Given the description of an element on the screen output the (x, y) to click on. 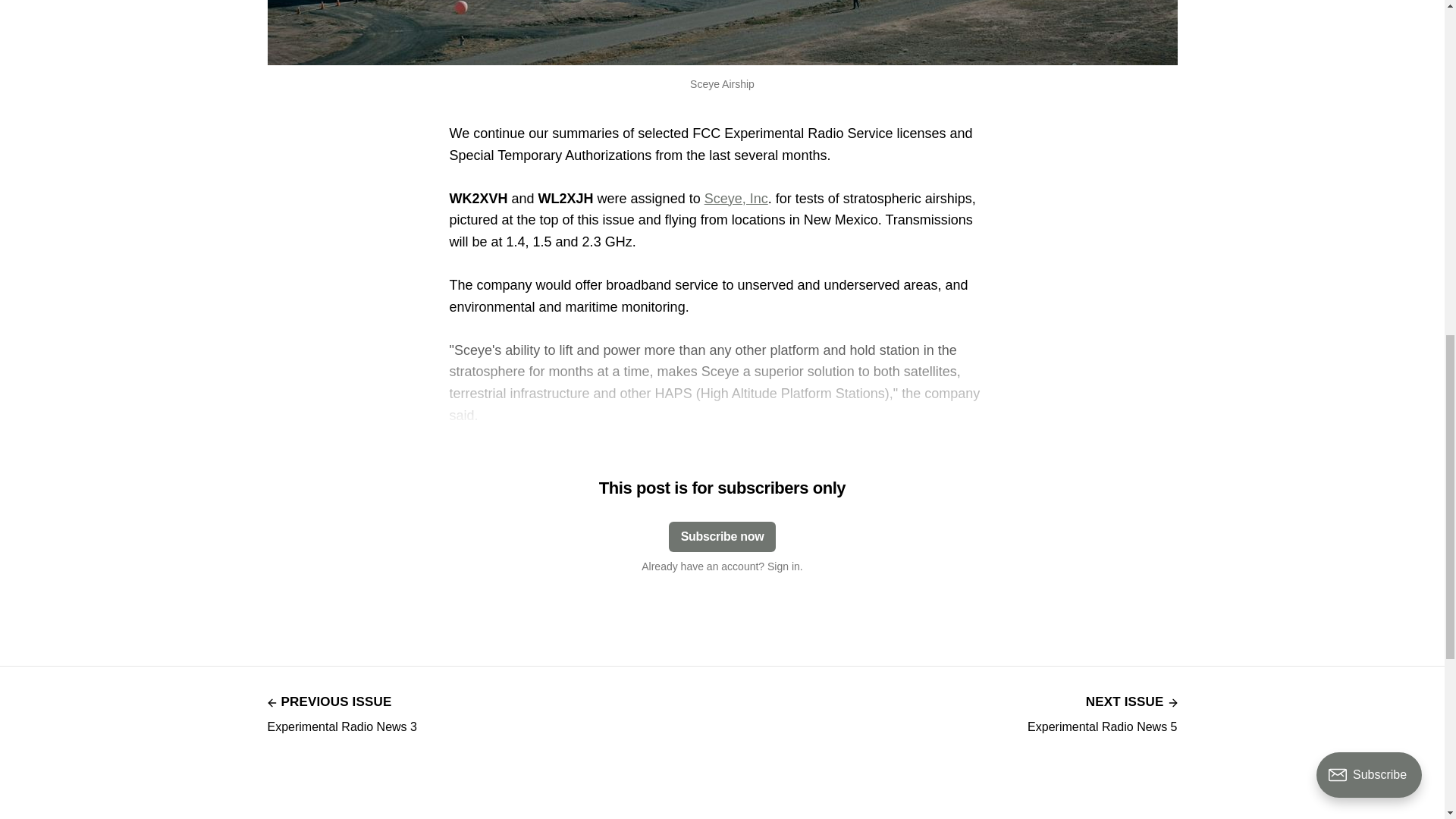
Sceye, Inc (736, 198)
Subscribe now (1101, 712)
